Given the description of an element on the screen output the (x, y) to click on. 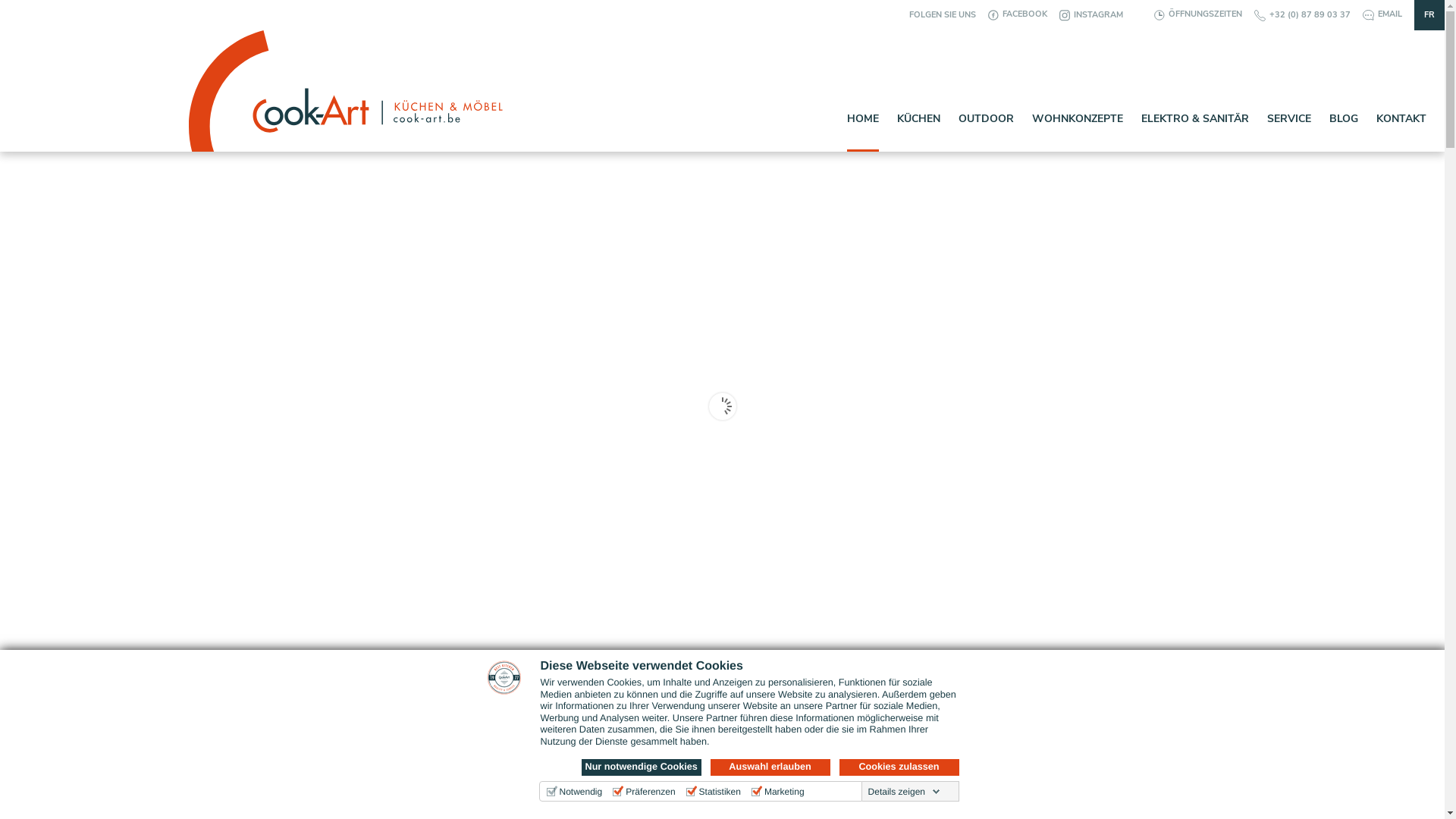
FACEBOOK Element type: text (1017, 14)
WOHNKONZEPTE Element type: text (1077, 131)
EMAIL Element type: text (1382, 14)
INSTAGRAM Element type: text (1091, 14)
HOME Element type: text (862, 131)
Details zeigen Element type: text (904, 791)
Cookies zulassen Element type: text (898, 767)
Auswahl erlauben Element type: text (769, 767)
Nur notwendige Cookies Element type: text (640, 767)
+32 (0) 87 89 03 37 Element type: text (1302, 14)
KONTAKT Element type: text (1401, 131)
FR Element type: text (1429, 15)
BLOG Element type: text (1343, 131)
OUTDOOR Element type: text (985, 131)
SERVICE Element type: text (1289, 131)
